Given the description of an element on the screen output the (x, y) to click on. 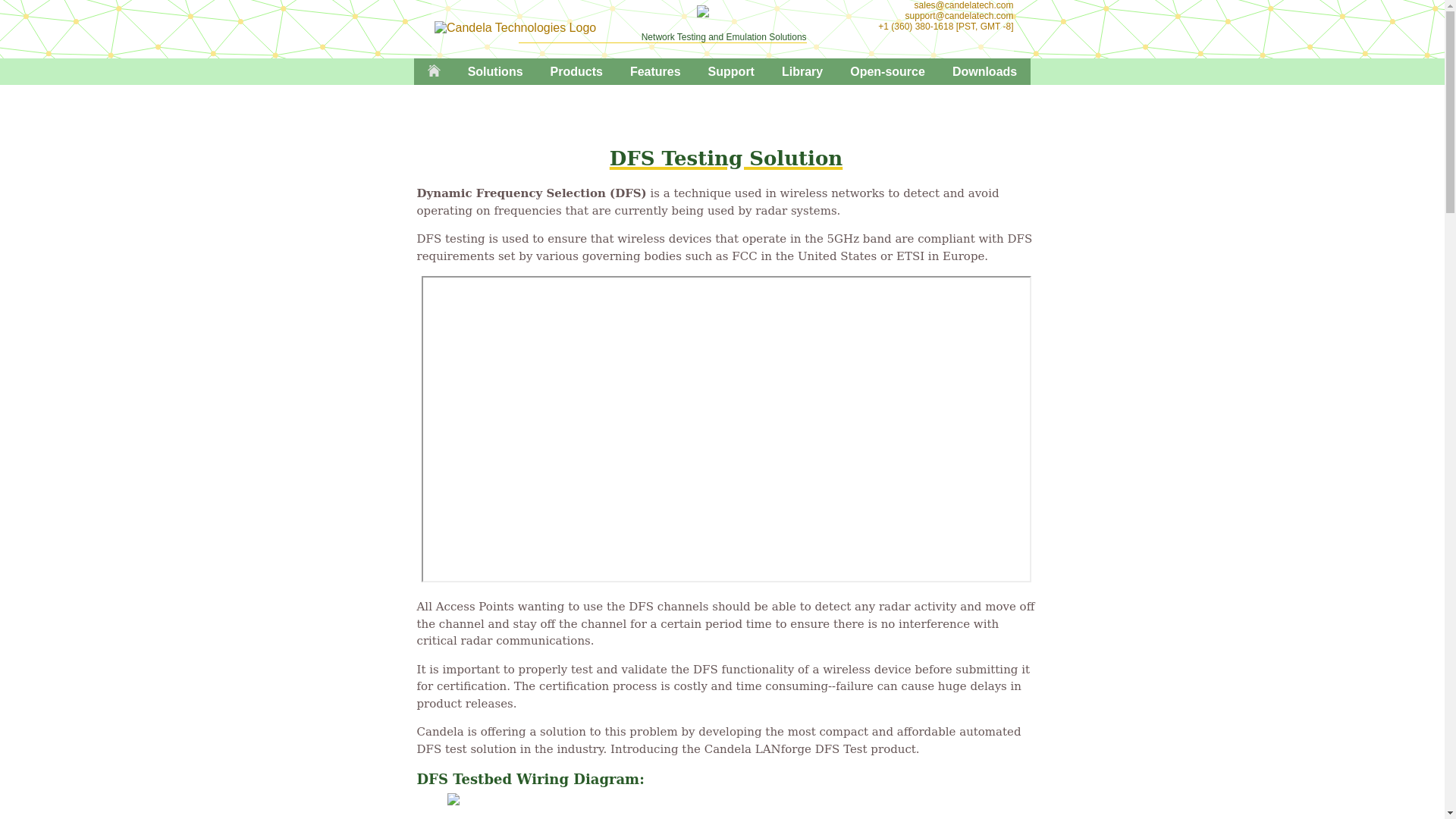
Features (654, 71)
Support (731, 71)
Products (576, 71)
Solutions (495, 71)
